Given the description of an element on the screen output the (x, y) to click on. 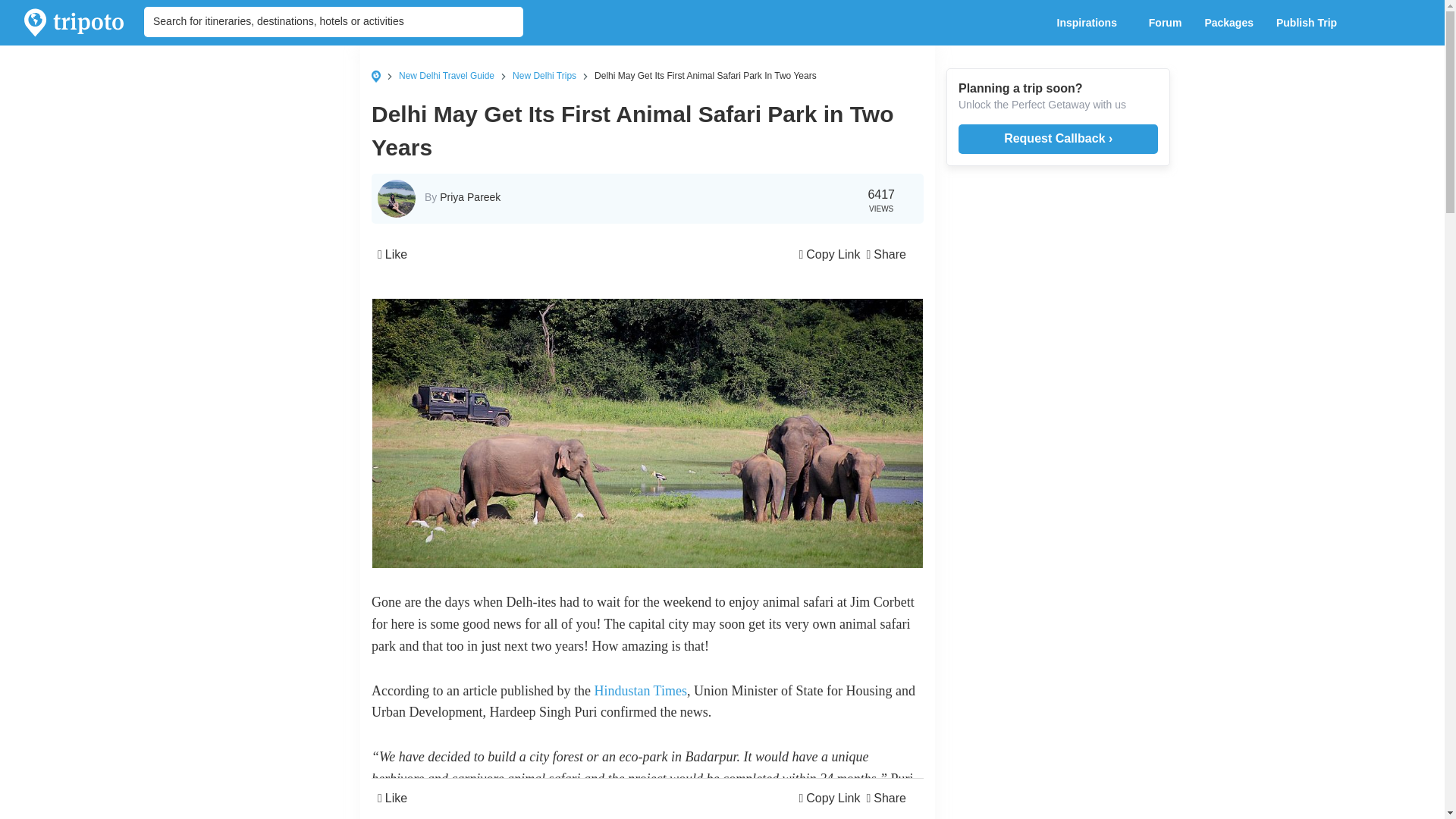
By Priya Pareek (462, 196)
Forum (1165, 22)
Hindustan Times (640, 690)
Packages (1228, 22)
Packages (1228, 22)
Tripoto: India's Largest Community of Travellers (73, 22)
New Delhi Trips (544, 75)
Delhi May Get Its First Animal Safari Park In Two Years (705, 75)
Inspirations (1091, 22)
New Delhi Travel Guide (446, 75)
